Given the description of an element on the screen output the (x, y) to click on. 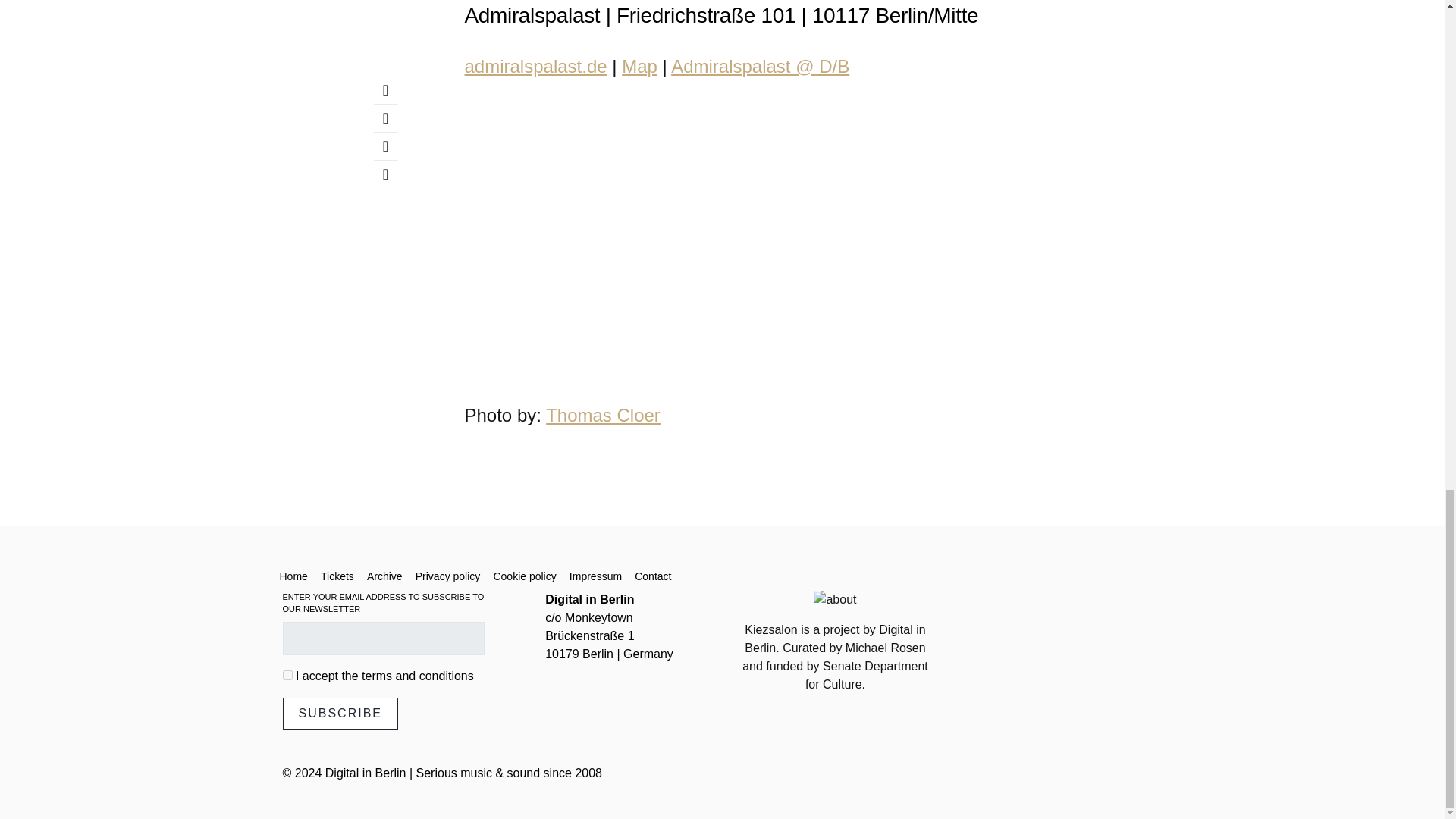
on (287, 674)
Subscribe (339, 712)
Please enter a valid email address (382, 637)
Google Maps (639, 65)
